Given the description of an element on the screen output the (x, y) to click on. 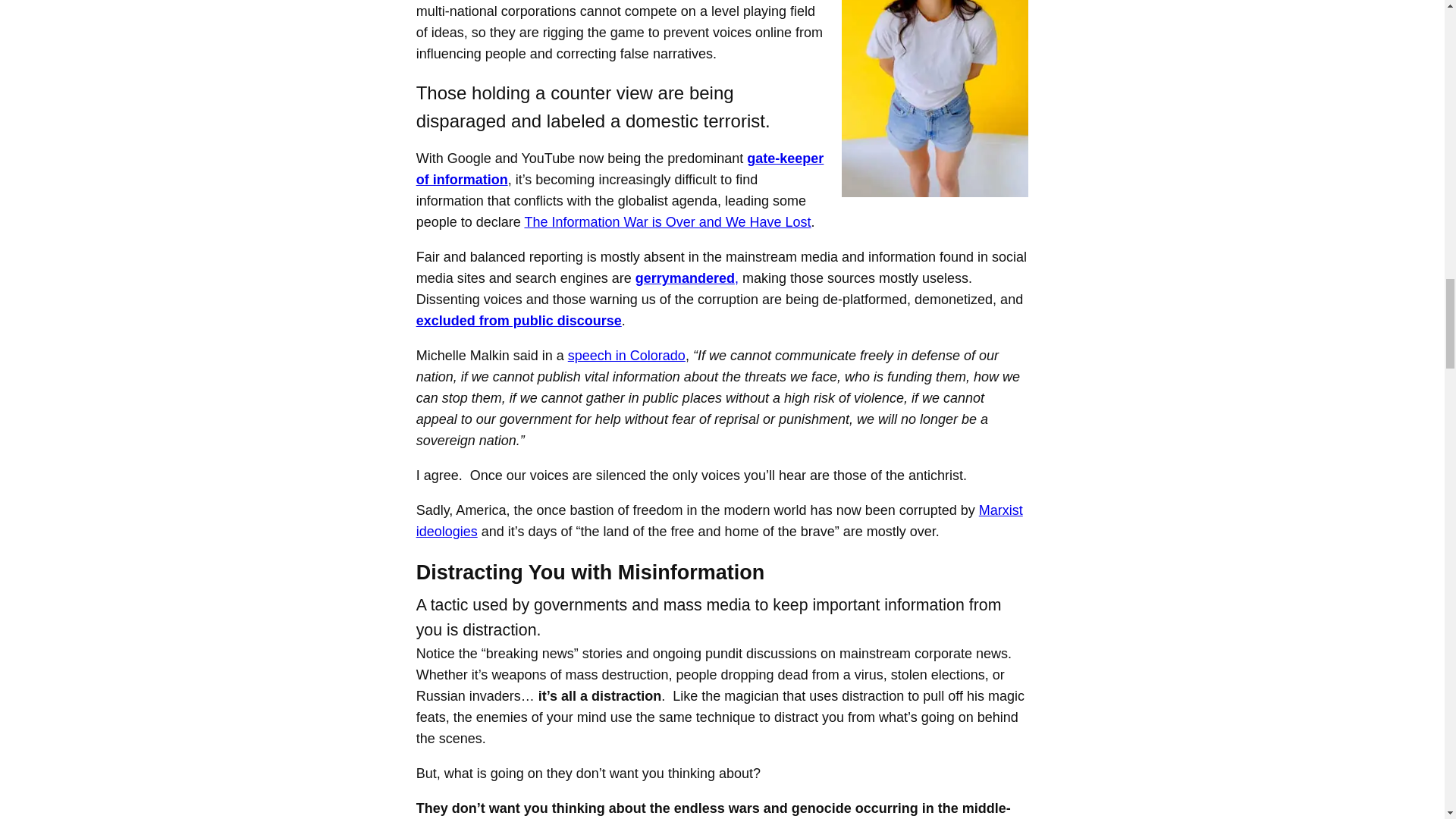
Marxist ideologies (719, 520)
gerrymandered, (686, 278)
The Information War is Over and We Have Lost (667, 222)
speech in Colorado (626, 355)
gate-keeper of information (620, 168)
excluded from public discourse (518, 320)
